Given the description of an element on the screen output the (x, y) to click on. 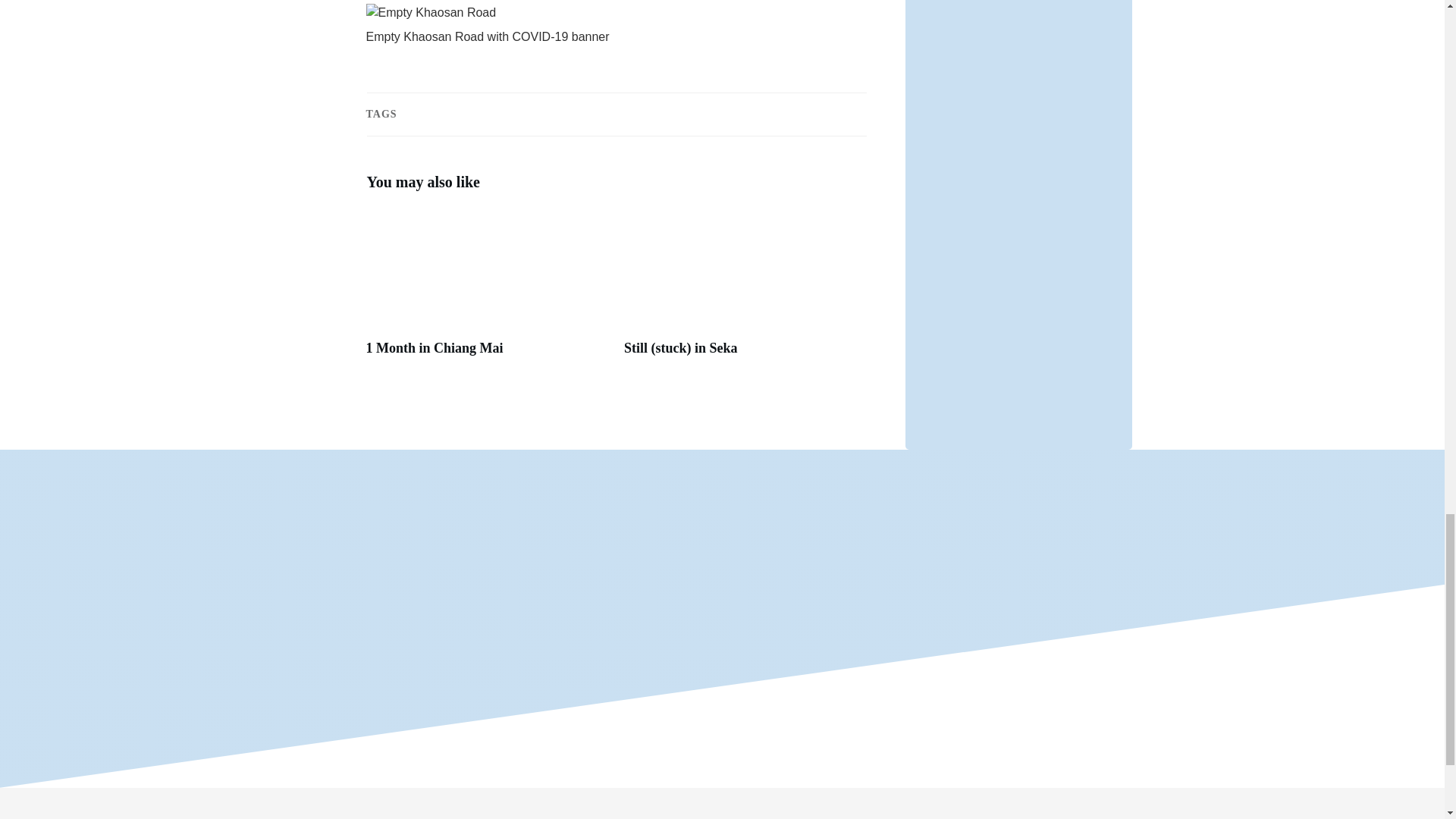
1 Month in Chiang Mai (433, 347)
1 Month in Chiang Mai (486, 290)
1 Month in Chiang Mai (433, 347)
